Given the description of an element on the screen output the (x, y) to click on. 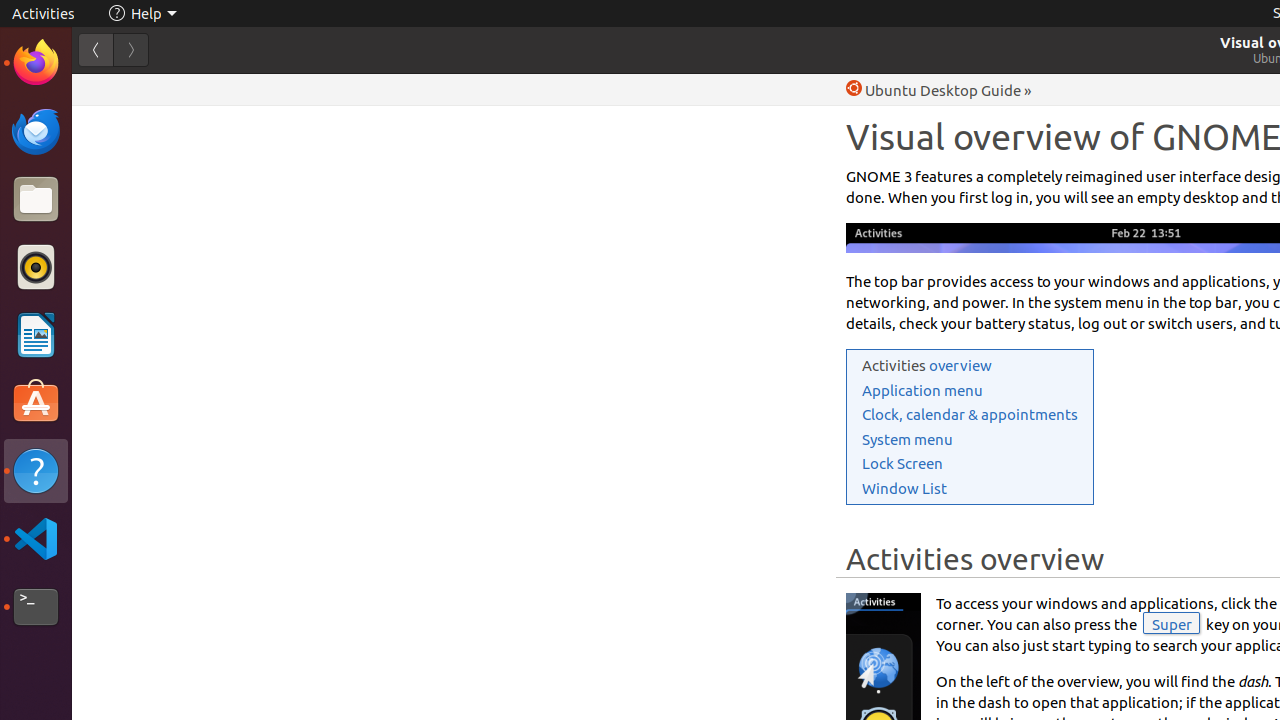
Terminal Element type: push-button (36, 607)
